Given the description of an element on the screen output the (x, y) to click on. 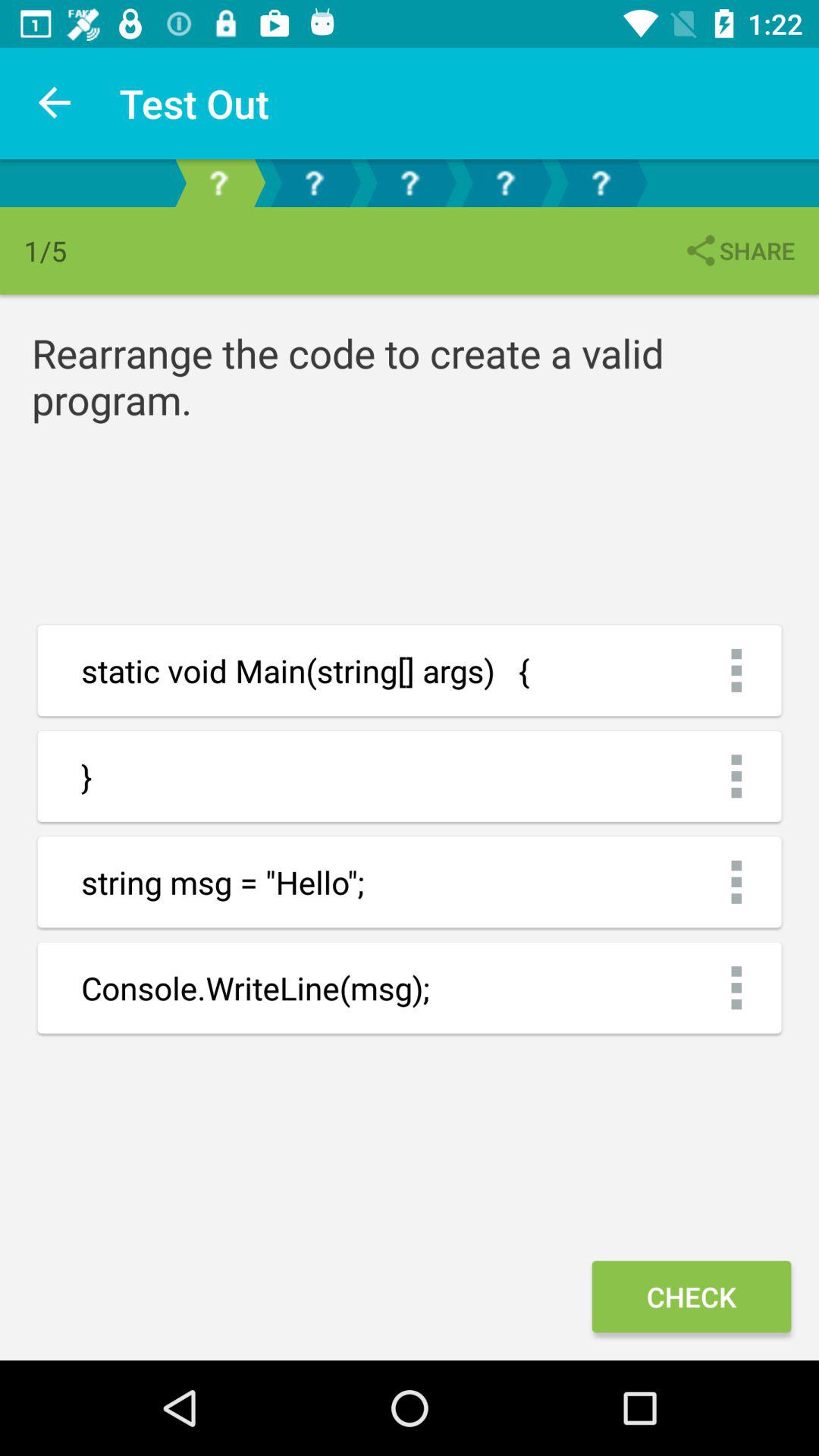
press the share item (738, 250)
